Given the description of an element on the screen output the (x, y) to click on. 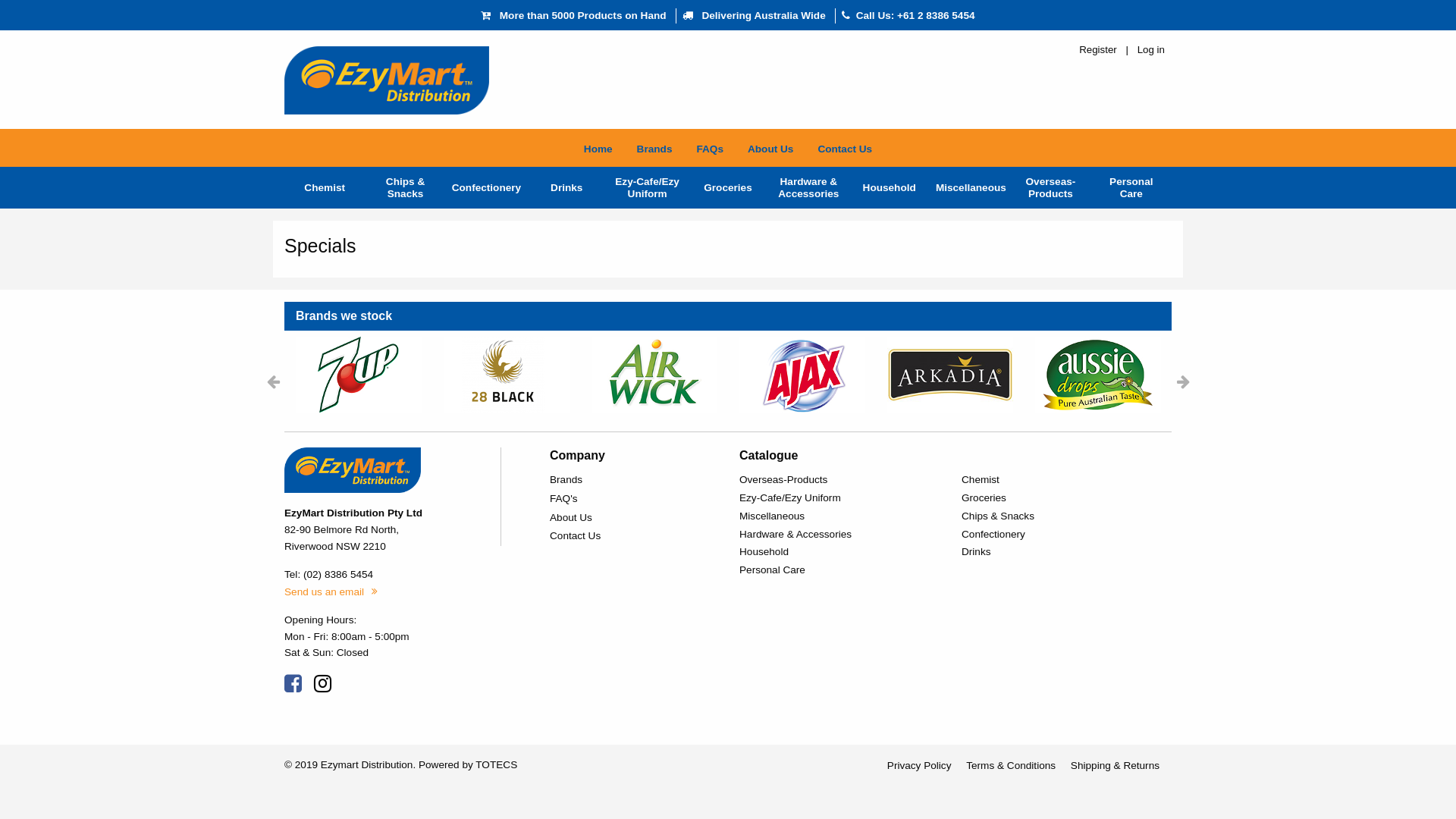
Send us an email Element type: text (330, 591)
FAQ's Element type: text (632, 498)
FAQs Element type: text (709, 147)
Register Element type: text (1098, 49)
Log in Element type: text (1150, 49)
Contact Us Element type: text (632, 536)
Next Element type: text (1182, 381)
Contact Us Element type: text (844, 147)
Brands Element type: text (654, 147)
Brands Element type: text (632, 479)
About Us Element type: text (632, 517)
Privacy Policy Element type: text (919, 765)
Shipping & Returns Element type: text (1114, 765)
Terms & Conditions Element type: text (1010, 765)
About Us Element type: text (770, 147)
TOTECS Element type: text (496, 764)
Home Element type: text (597, 147)
Previous Element type: text (272, 381)
